Given the description of an element on the screen output the (x, y) to click on. 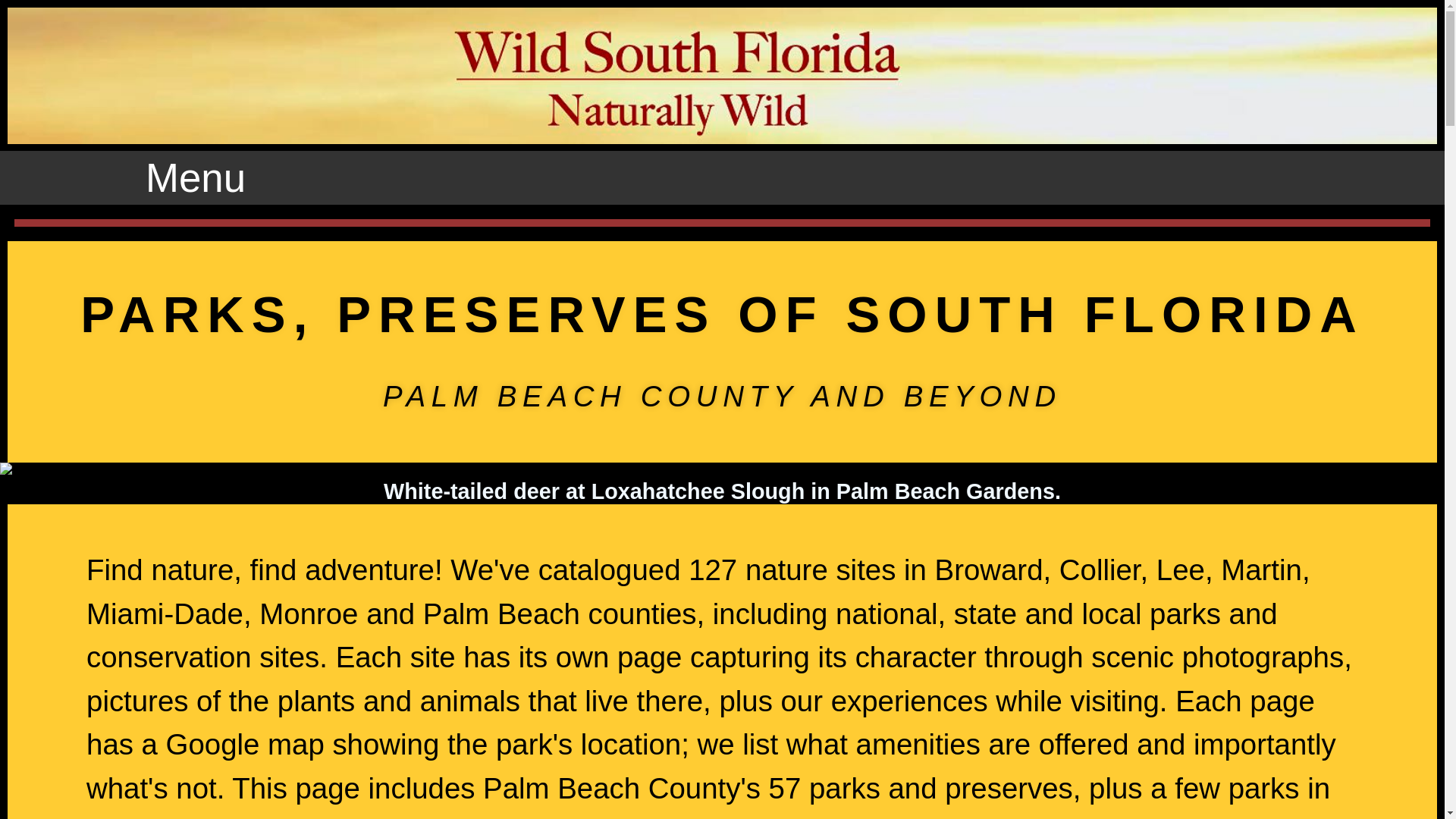
Menu (195, 177)
